Given the description of an element on the screen output the (x, y) to click on. 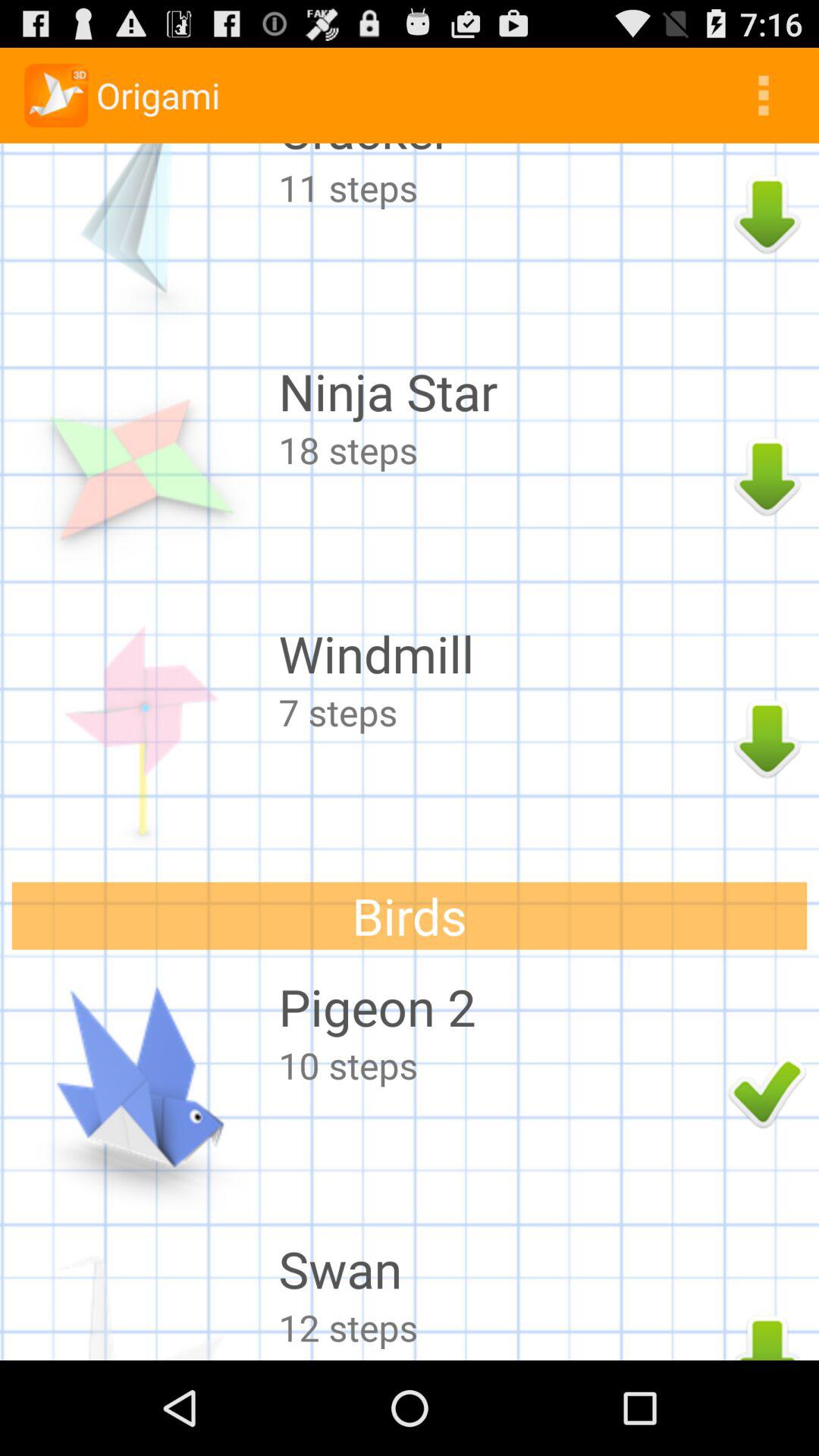
swipe until the 7 steps (498, 711)
